Given the description of an element on the screen output the (x, y) to click on. 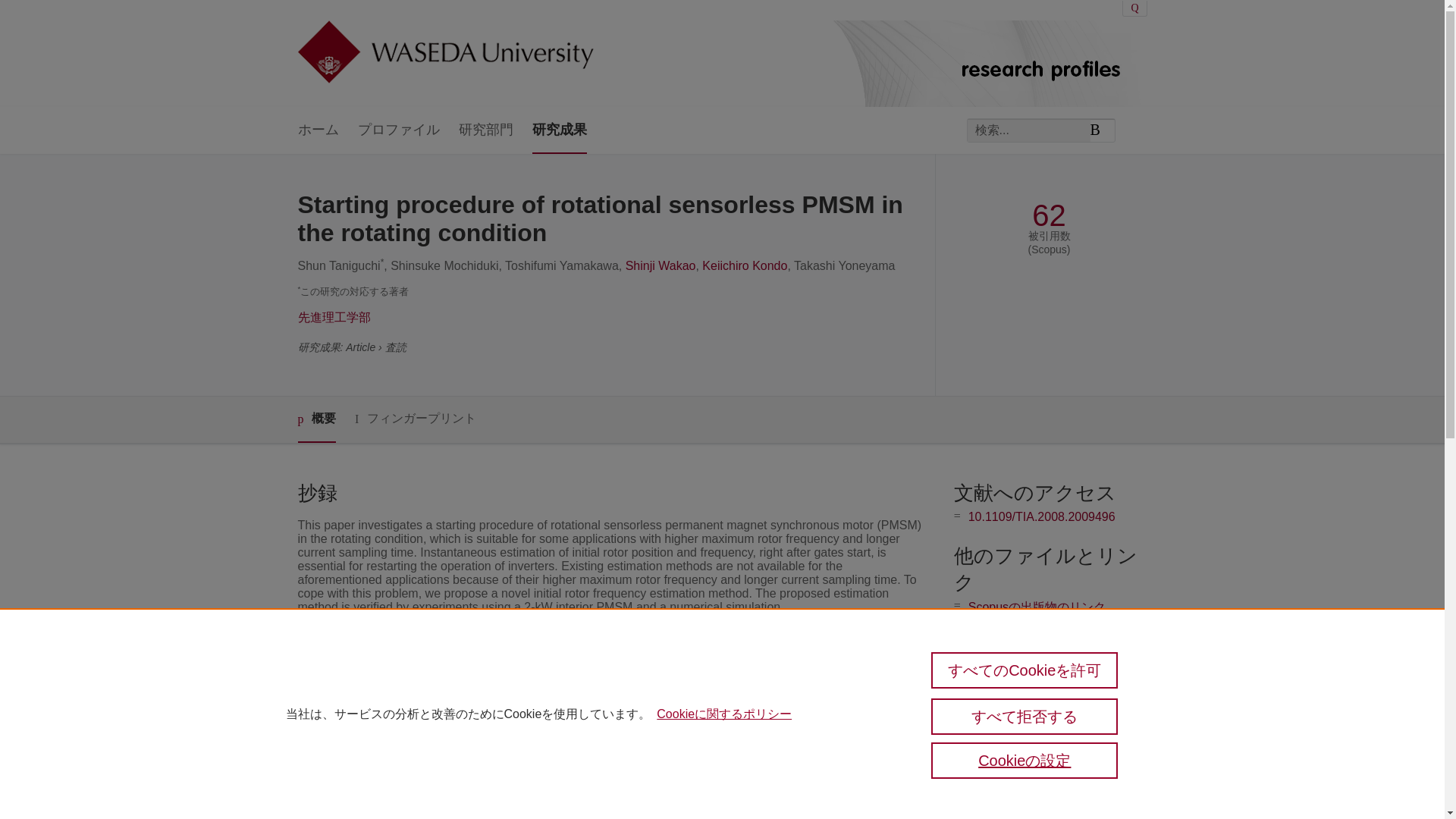
Shinji Wakao (660, 265)
62 (1048, 215)
Keiichiro Kondo (744, 265)
IEEE Transactions on Industry Applications (621, 702)
